Given the description of an element on the screen output the (x, y) to click on. 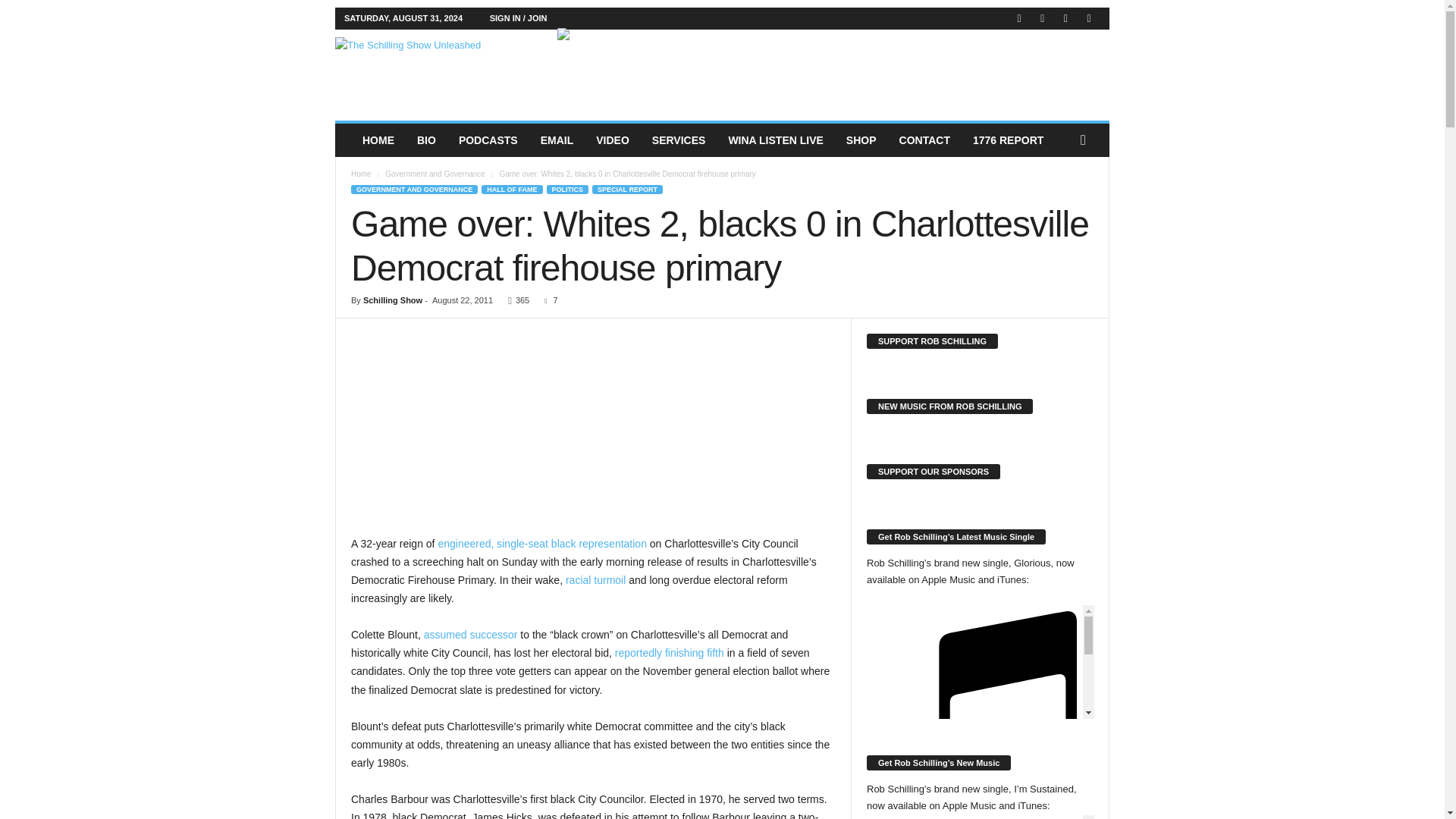
BIO (426, 140)
HOME (378, 140)
The Schilling Show Blog (437, 70)
WINA LISTEN LIVE (775, 140)
SHOP (861, 140)
VIDEO (612, 140)
SERVICES (678, 140)
View all posts in Government and Governance (434, 173)
Community Funded Investigative Journalism (437, 70)
PODCASTS (487, 140)
